Given the description of an element on the screen output the (x, y) to click on. 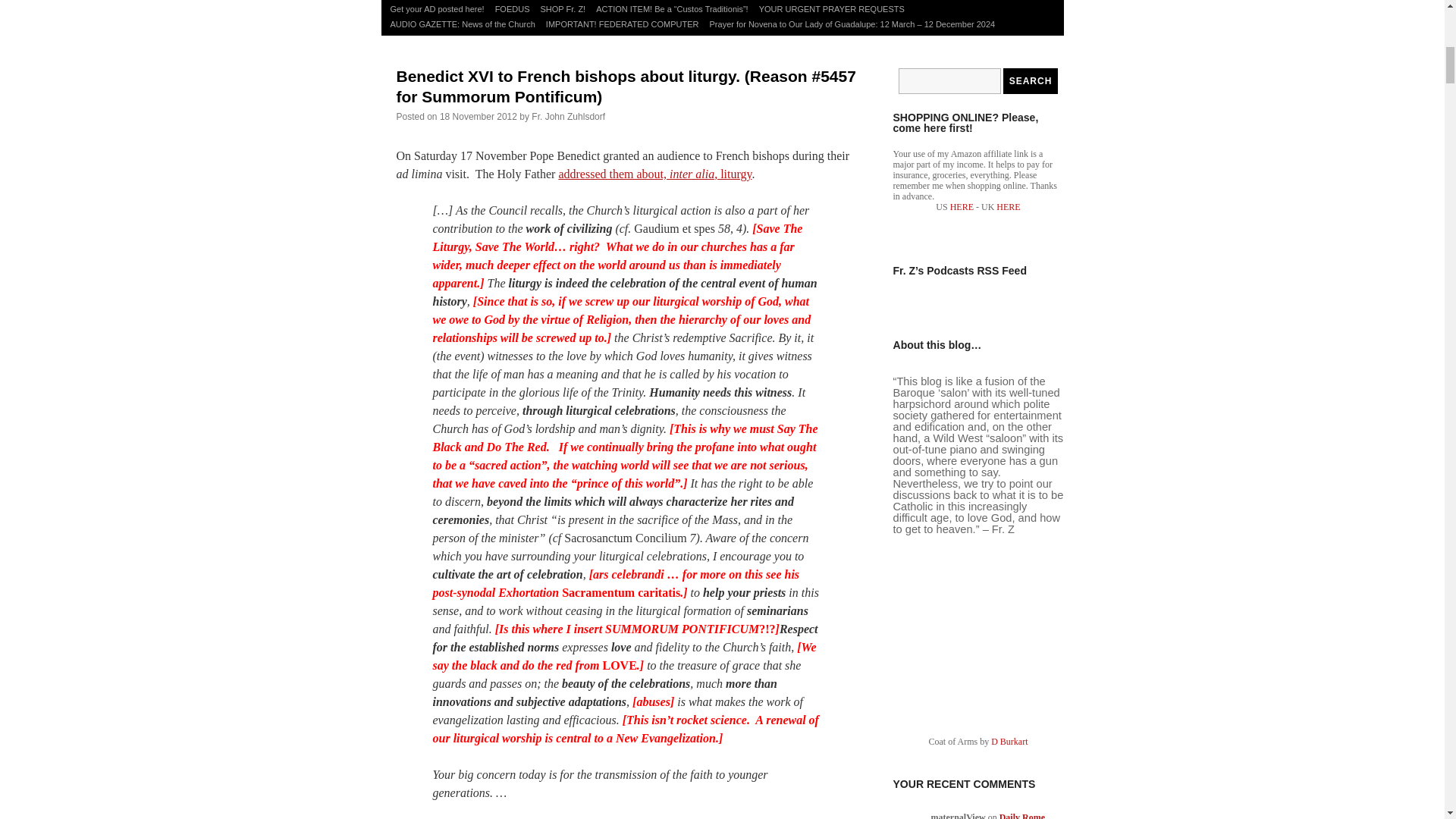
ACTIVATE YOUR CONFIRMATION (612, 0)
Prayer for Vocations (427, 0)
FOEDUS (512, 8)
Search (1030, 80)
Fr. John Zuhlsdorf (568, 116)
Wherein Fr Z rants (827, 0)
YOUR URGENT PRAYER REQUESTS (832, 8)
Fishwrap Prayer (505, 0)
10:08 AM (477, 116)
Get your AD posted here! (437, 8)
